Given the description of an element on the screen output the (x, y) to click on. 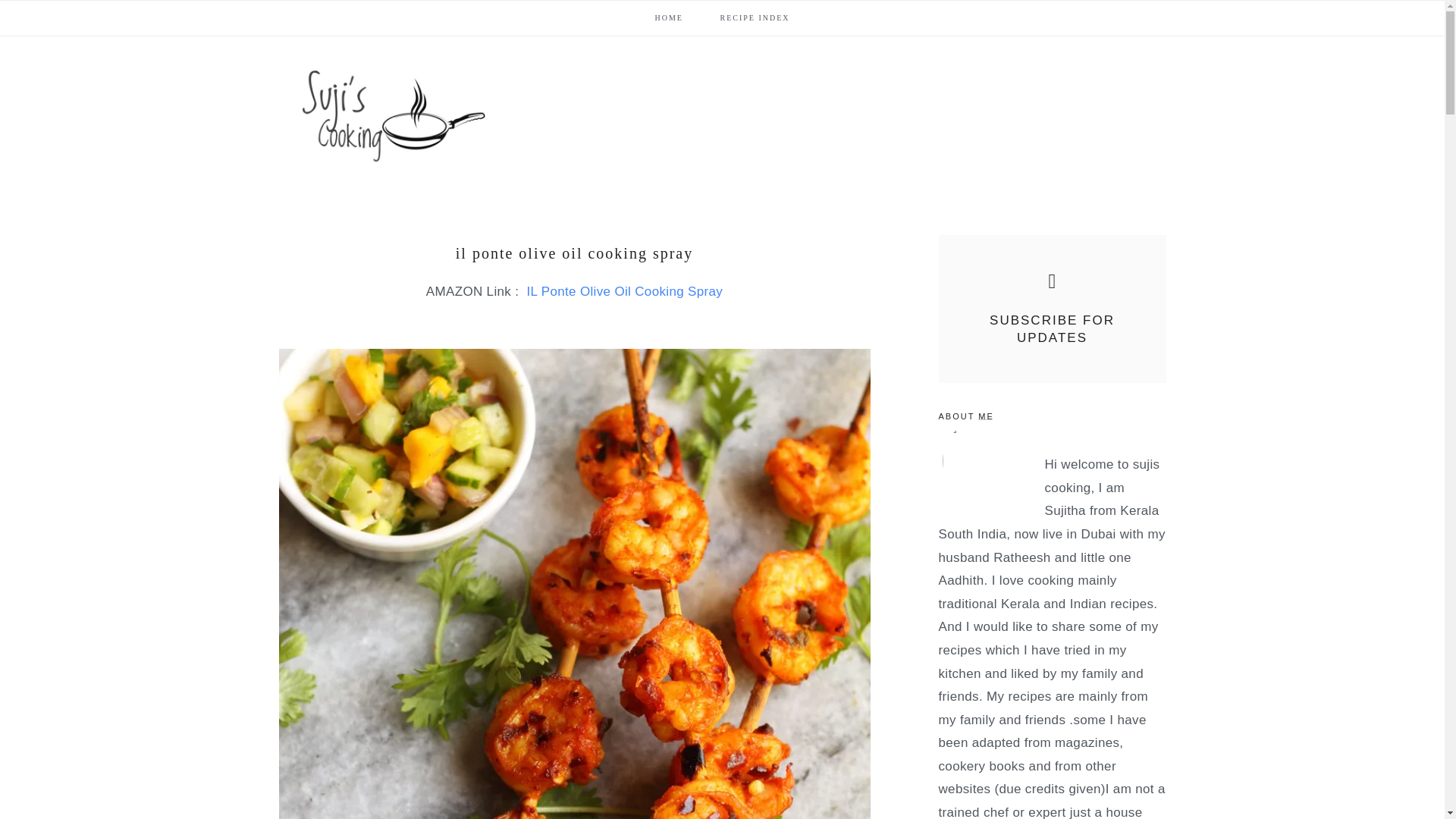
Advertisement (890, 85)
HOME (668, 18)
 IL Ponte Olive Oil Cooking Spray (622, 291)
Suji's Cooking (392, 116)
RECIPE INDEX (754, 18)
